Given the description of an element on the screen output the (x, y) to click on. 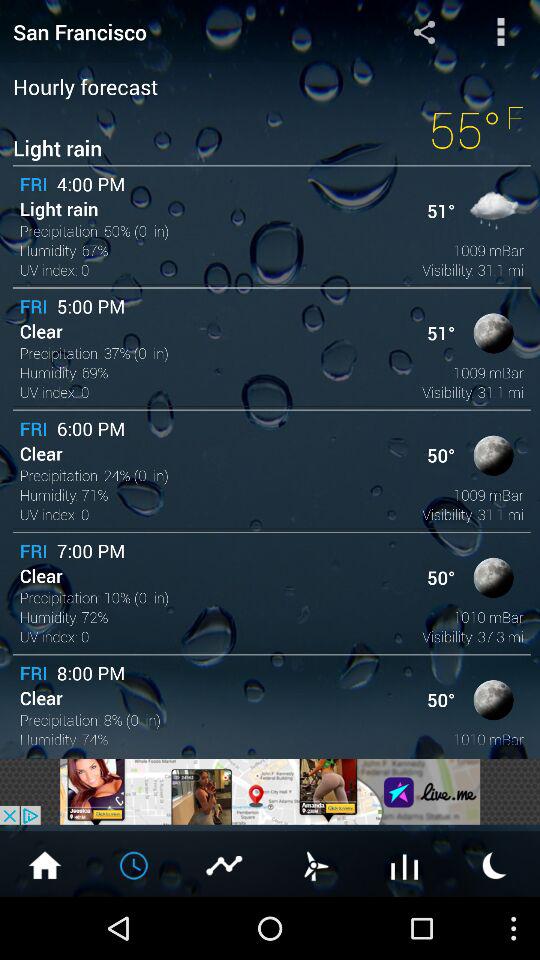
launch icon below the uv index: 0 app (270, 791)
